Given the description of an element on the screen output the (x, y) to click on. 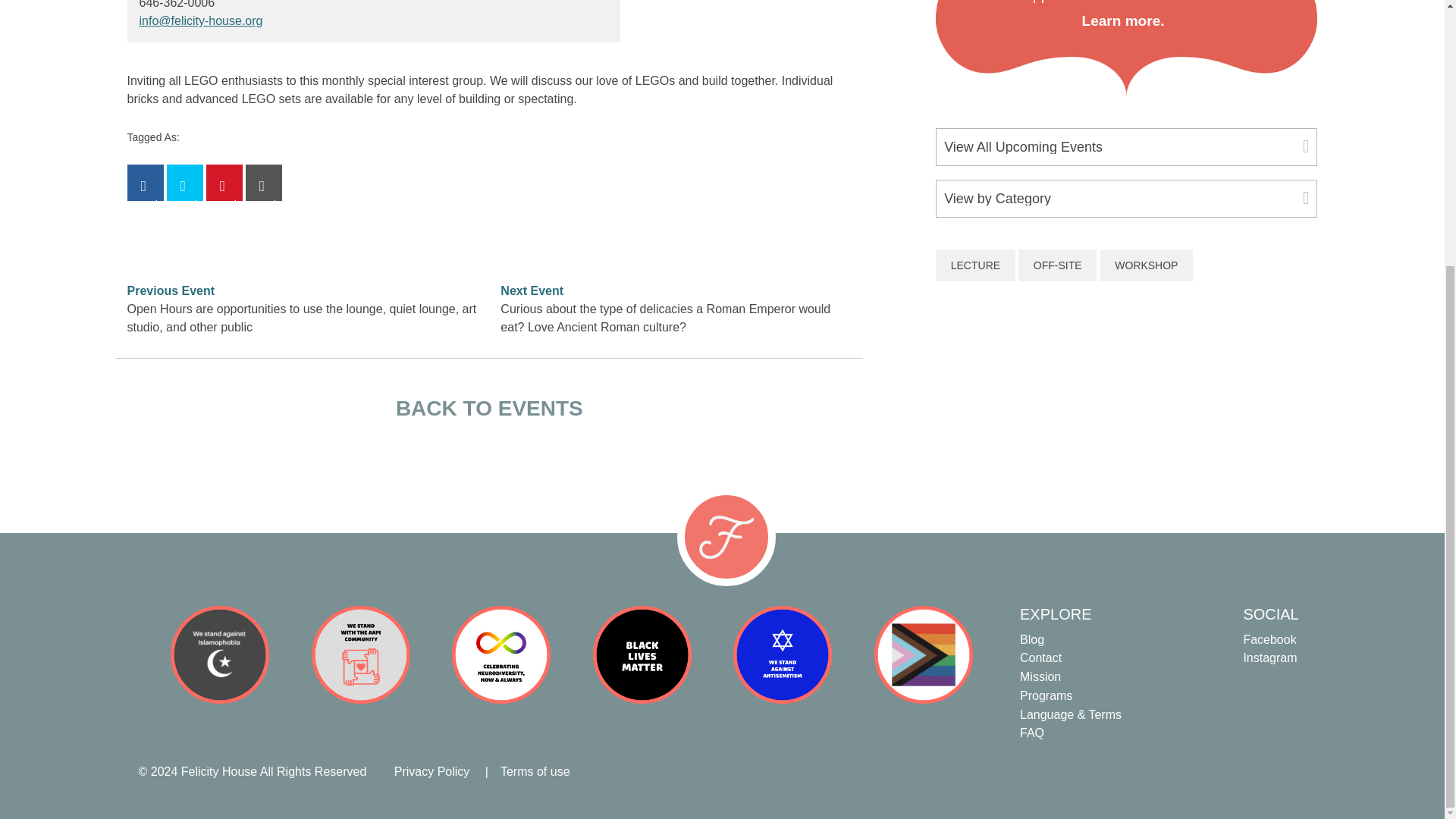
Mission (1108, 677)
Previous Event (171, 290)
Facebook (1280, 639)
Terms of use (535, 771)
FAQ (1108, 732)
BACK TO EVENTS (489, 408)
OFF-SITE (1056, 265)
Instagram (1280, 658)
Programs (1108, 695)
Blog (1108, 639)
Contact (1108, 658)
Learn more. (1122, 20)
Next Event (531, 290)
LECTURE (975, 265)
Privacy Policy (432, 771)
